Given the description of an element on the screen output the (x, y) to click on. 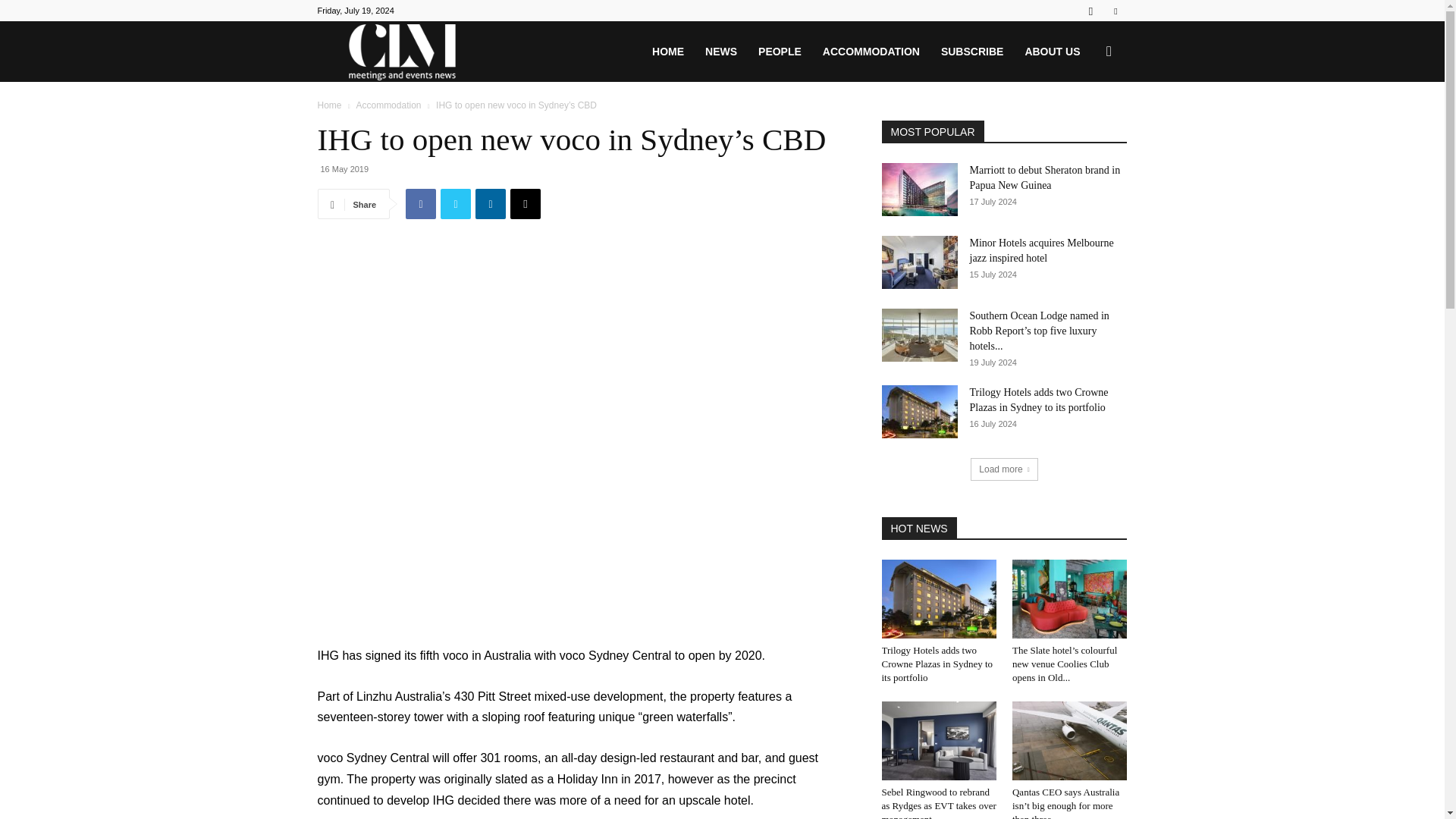
CIM (401, 51)
PEOPLE (780, 51)
Search (1085, 124)
Linkedin (490, 204)
Accommodation (387, 104)
ABOUT US (1051, 51)
Facebook (420, 204)
Home (328, 104)
NEWS (721, 51)
Twitter (1114, 10)
Twitter (455, 204)
HOME (668, 51)
Email (525, 204)
SUBSCRIBE (971, 51)
View all posts in Accommodation (387, 104)
